Given the description of an element on the screen output the (x, y) to click on. 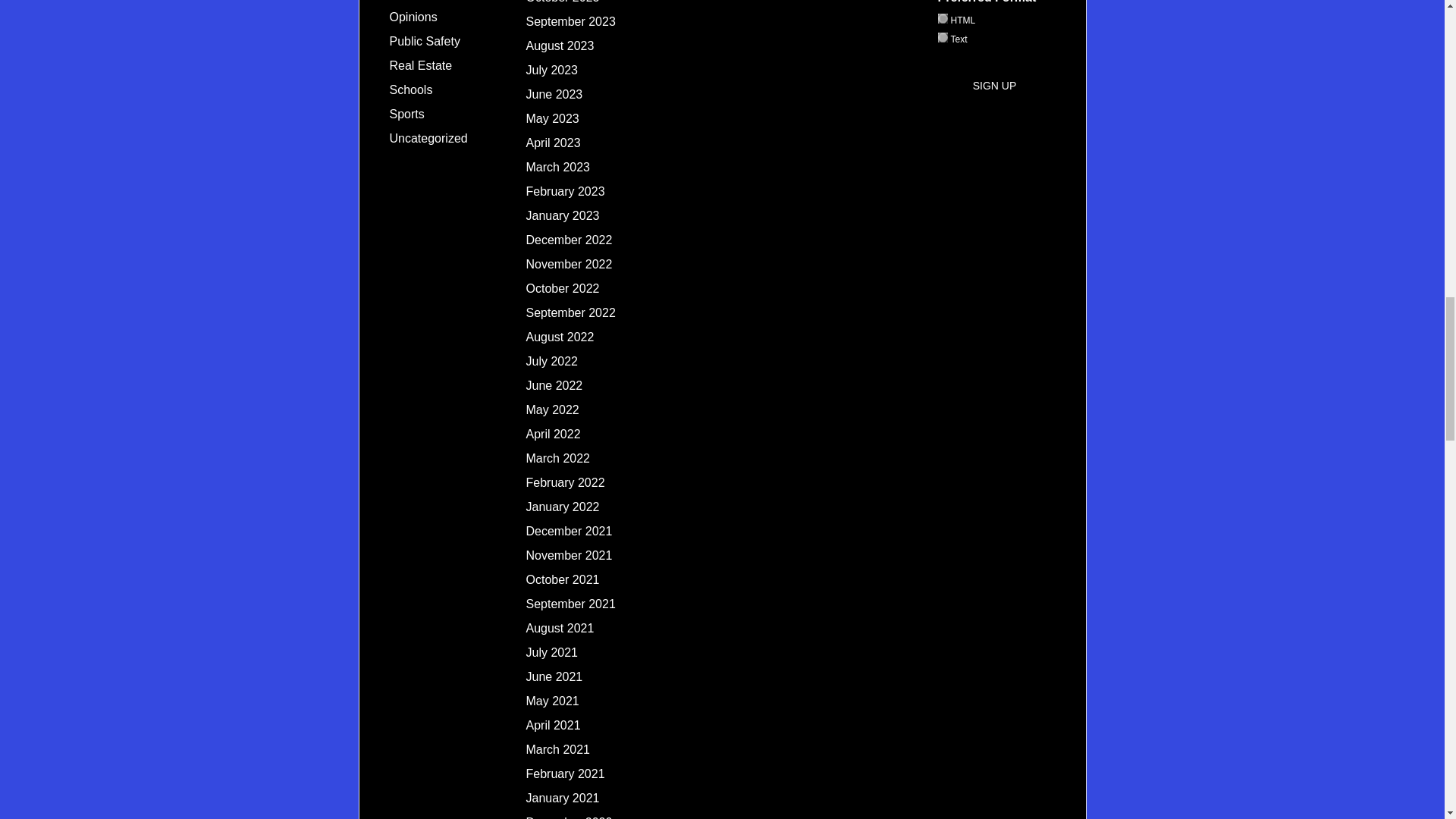
Schools (411, 89)
Public Safety (425, 41)
Sign Up (995, 85)
Real Estate (421, 65)
text (942, 37)
html (942, 18)
Opinions (414, 16)
